Given the description of an element on the screen output the (x, y) to click on. 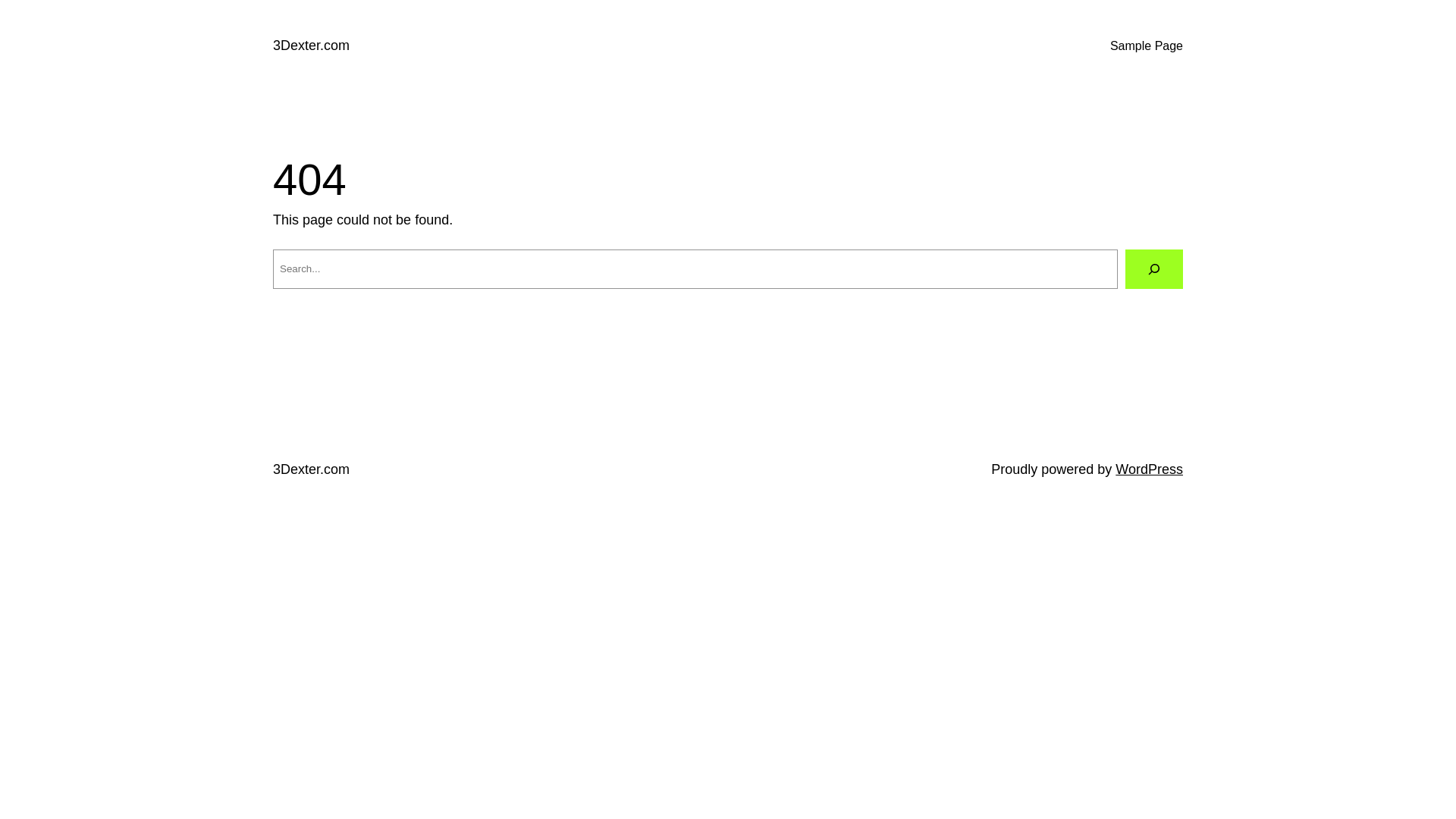
3Dexter.com Element type: text (311, 45)
Sample Page Element type: text (1146, 46)
WordPress Element type: text (1149, 468)
3Dexter.com Element type: text (311, 468)
